Given the description of an element on the screen output the (x, y) to click on. 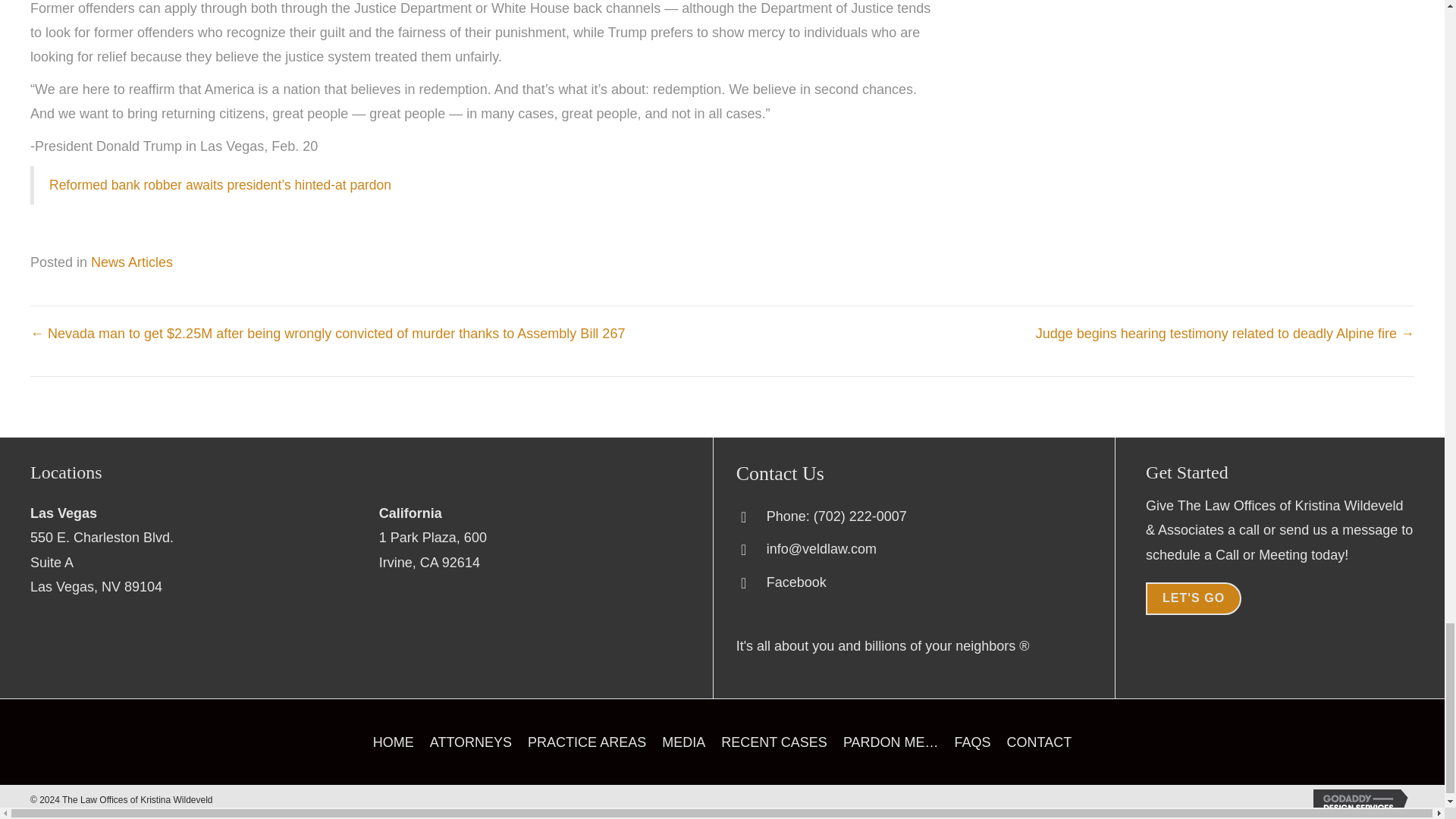
FAQS (972, 746)
PRACTICE AREAS (586, 746)
News Articles (131, 262)
HOME (393, 746)
ATTORNEYS (470, 746)
MEDIA (101, 561)
RECENT CASES (683, 746)
LET'S GO (773, 746)
